Given the description of an element on the screen output the (x, y) to click on. 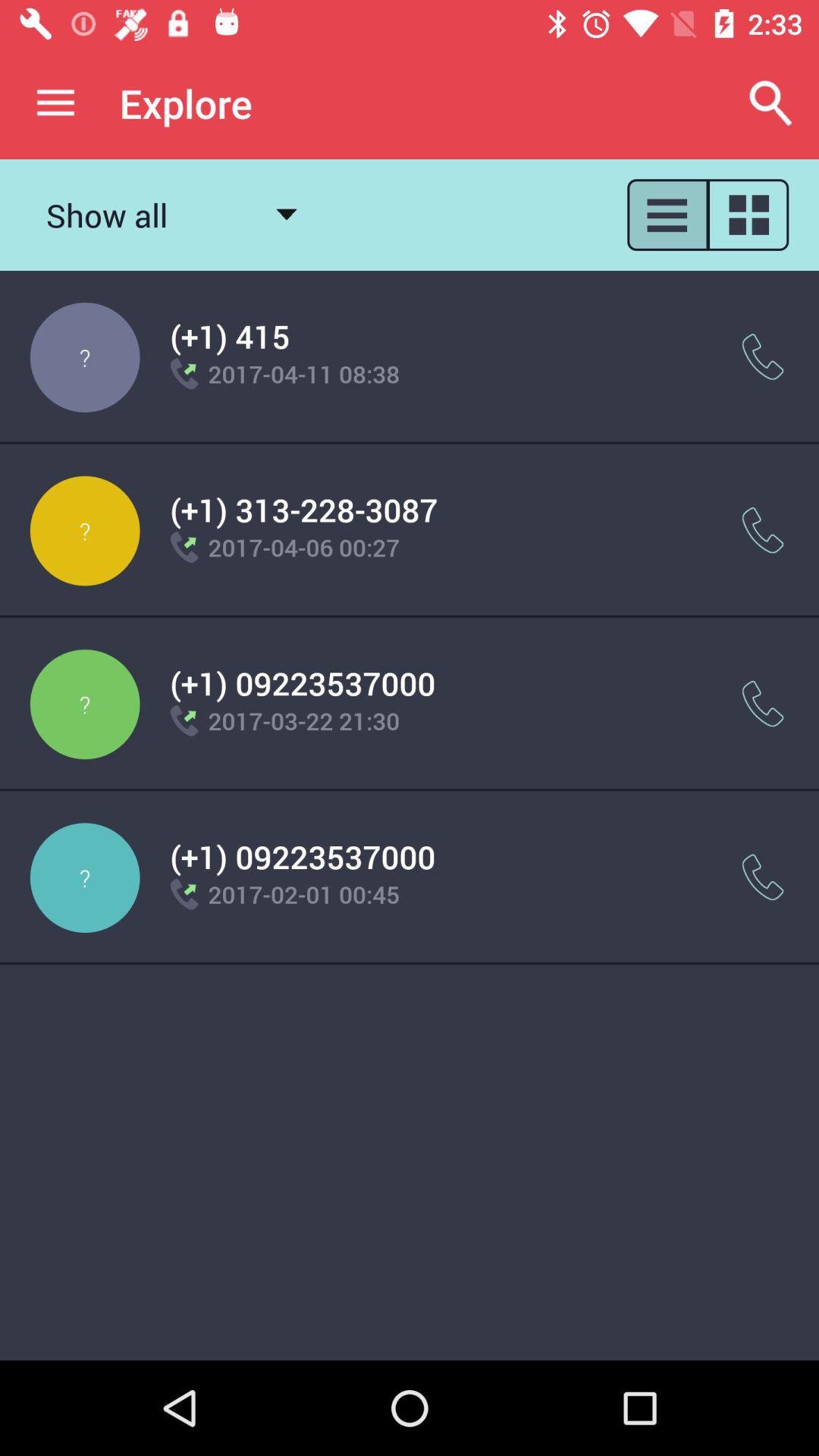
phone call (762, 356)
